Given the description of an element on the screen output the (x, y) to click on. 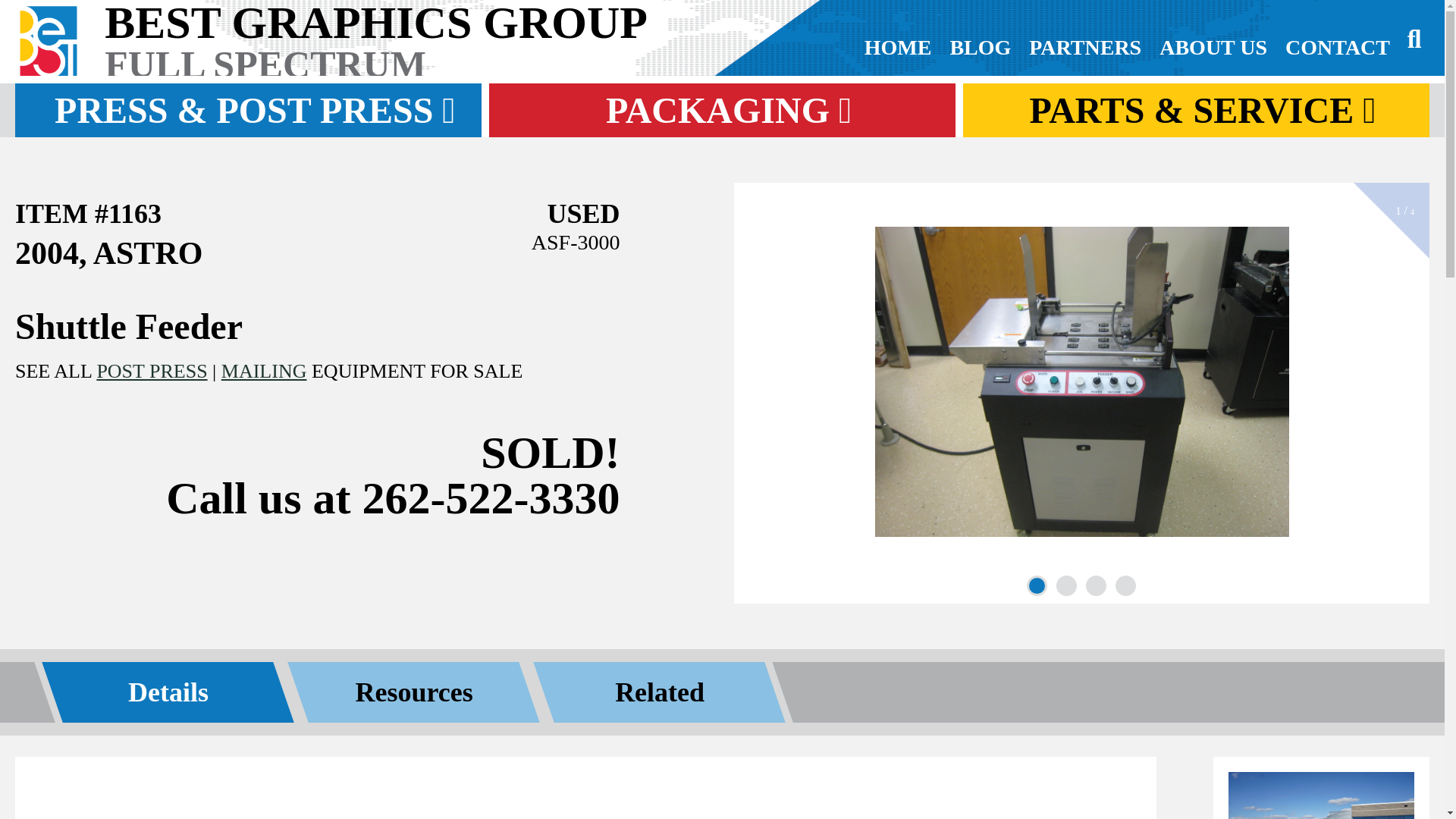
PARTNERS (1085, 47)
HOME (898, 47)
Mailing (264, 371)
ABOUT US (1213, 47)
Post Press (151, 371)
CONTACT (1337, 47)
BLOG (980, 47)
